Given the description of an element on the screen output the (x, y) to click on. 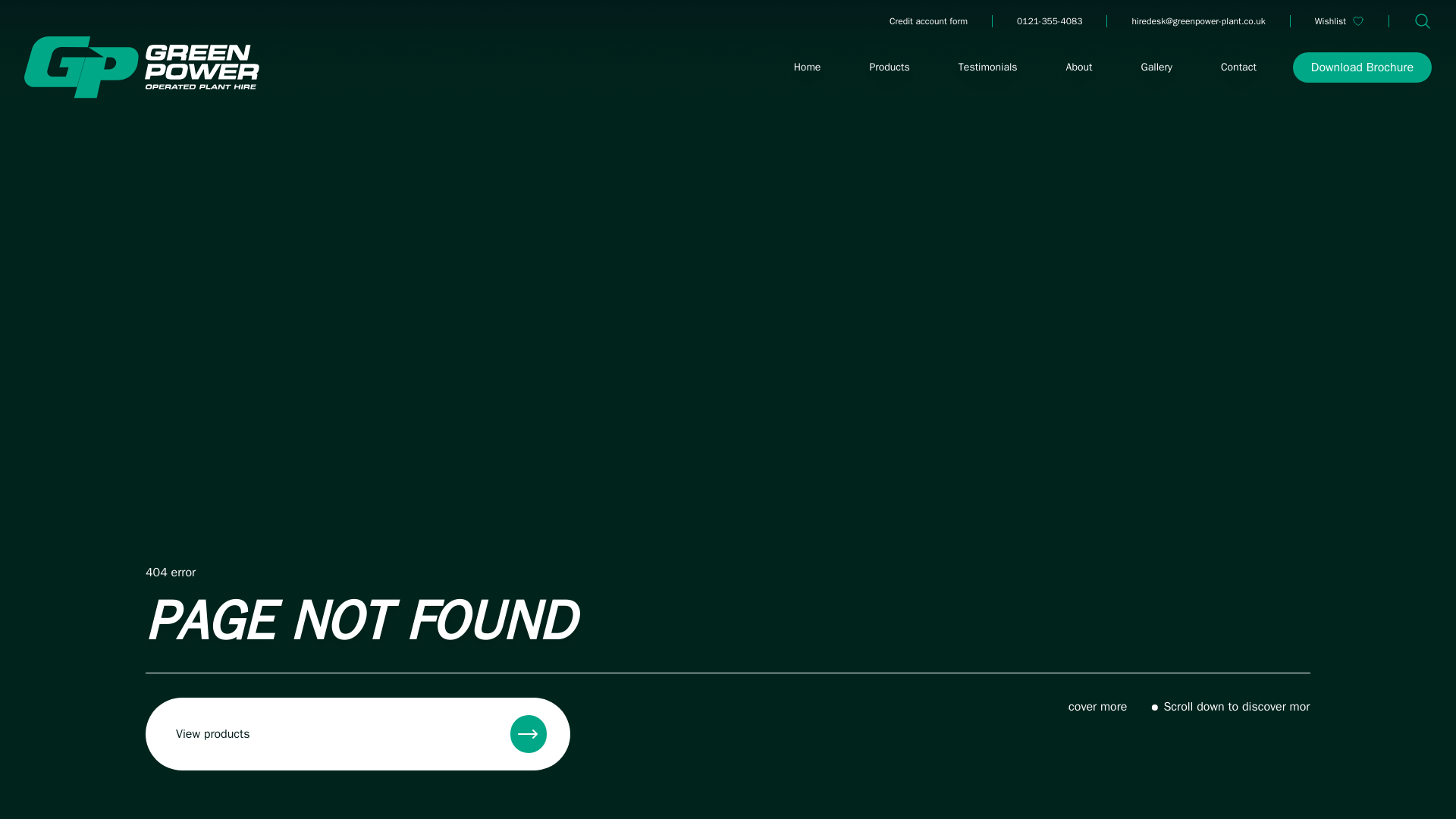
Gallery (1157, 67)
Testimonials (987, 67)
Home (806, 67)
Contact (1238, 67)
Credit account form (928, 21)
Products (889, 67)
0121-355-4083 (1048, 21)
About (1079, 67)
